Given the description of an element on the screen output the (x, y) to click on. 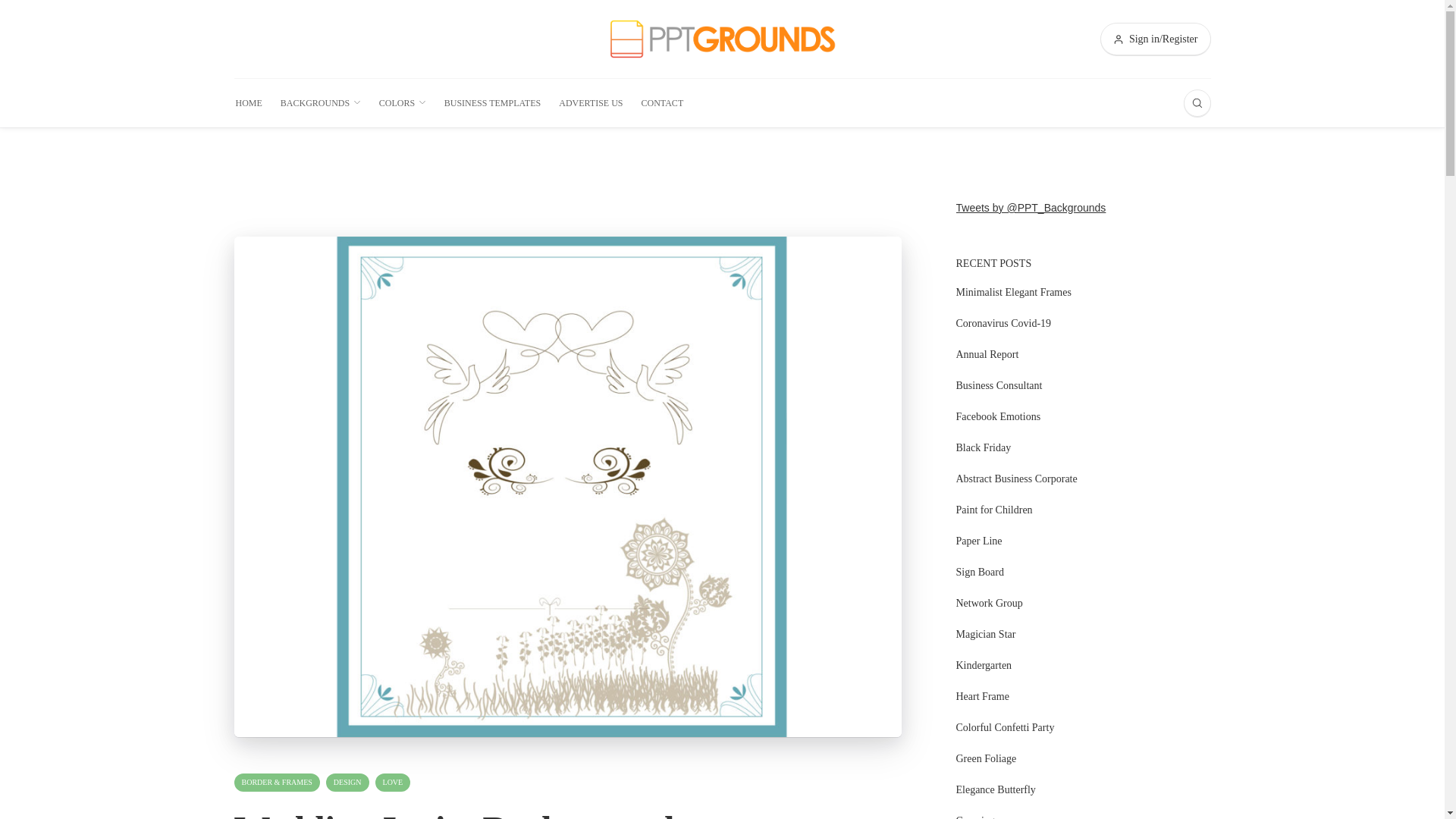
BACKGROUNDS (321, 102)
View all posts in Love (392, 782)
COLORS (402, 102)
View all posts in Design (347, 782)
Free PPT Grounds and Powerpoint Template (721, 38)
